Given the description of an element on the screen output the (x, y) to click on. 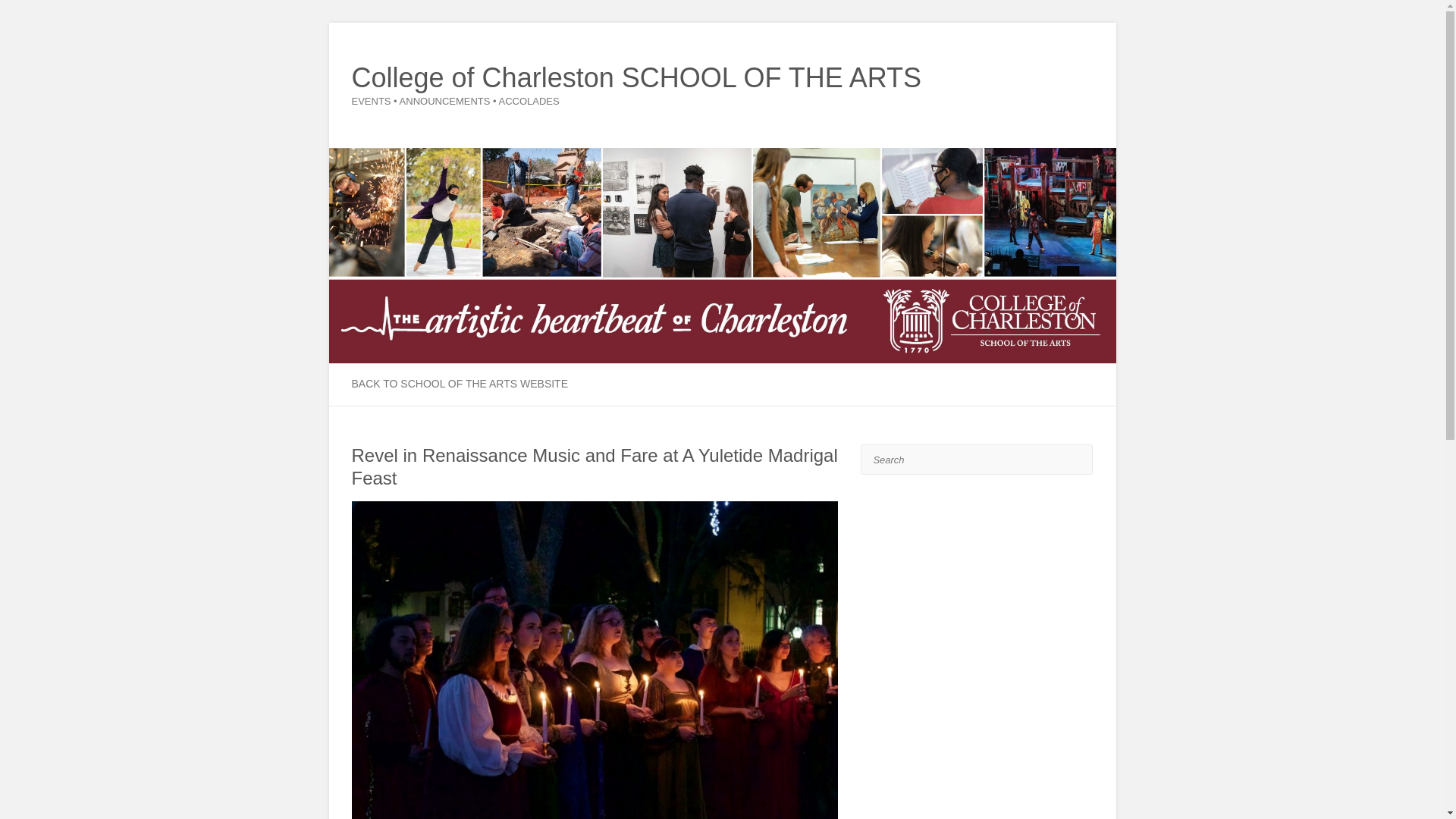
College of Charleston SCHOOL OF THE ARTS (636, 78)
BACK TO SCHOOL OF THE ARTS WEBSITE (460, 384)
College of Charleston SCHOOL OF THE ARTS (636, 78)
